Given the description of an element on the screen output the (x, y) to click on. 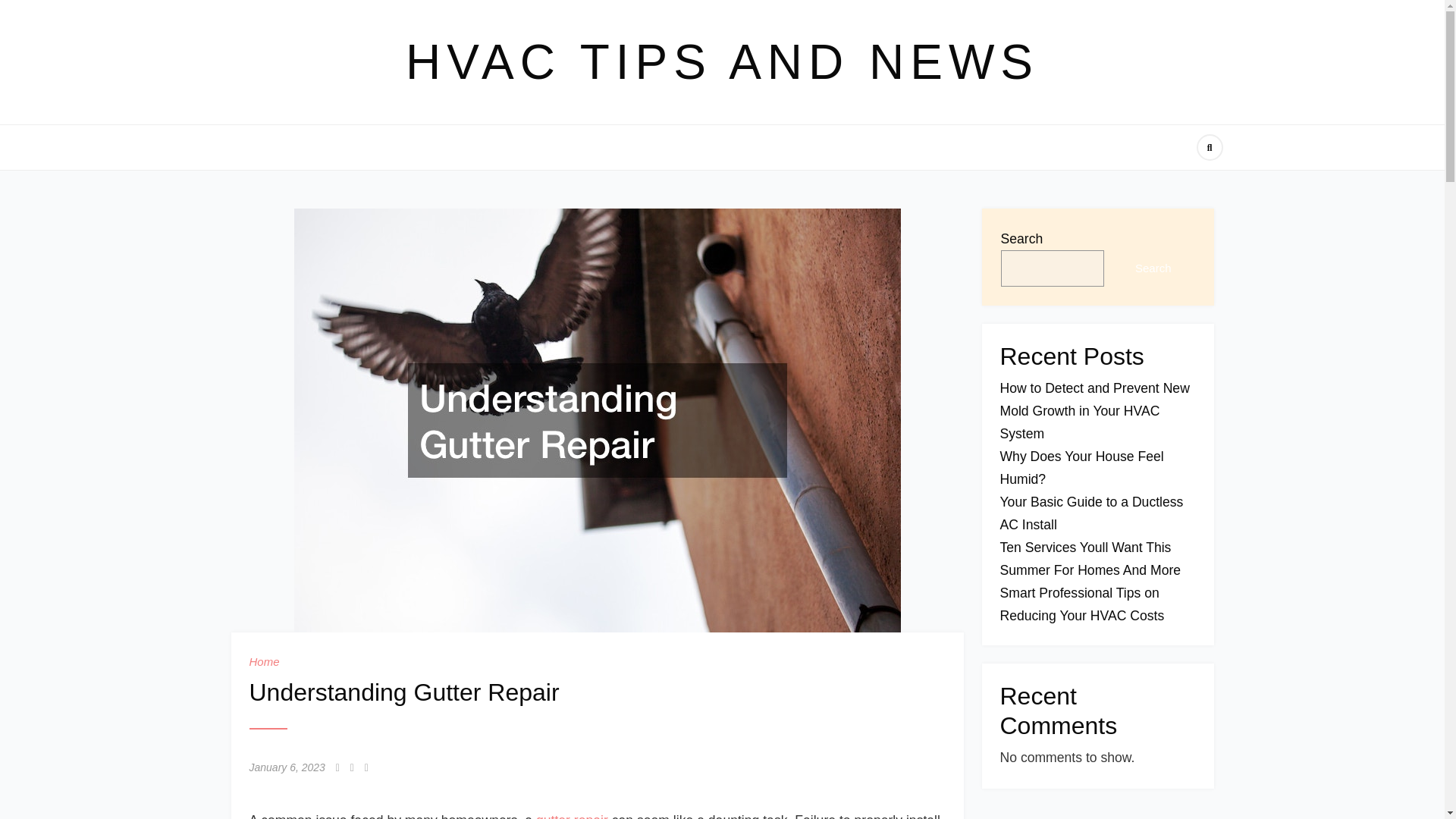
Smart Professional Tips on Reducing Your HVAC Costs (1080, 604)
January 6, 2023 (286, 767)
HVAC TIPS AND NEWS (722, 61)
Your Basic Guide to a Ductless AC Install (1090, 513)
gutter repair (571, 816)
Home (263, 661)
Why Does Your House Feel Humid? (1080, 467)
Ten Services Youll Want This Summer For Homes And More (1089, 558)
Search (1153, 268)
